Given the description of an element on the screen output the (x, y) to click on. 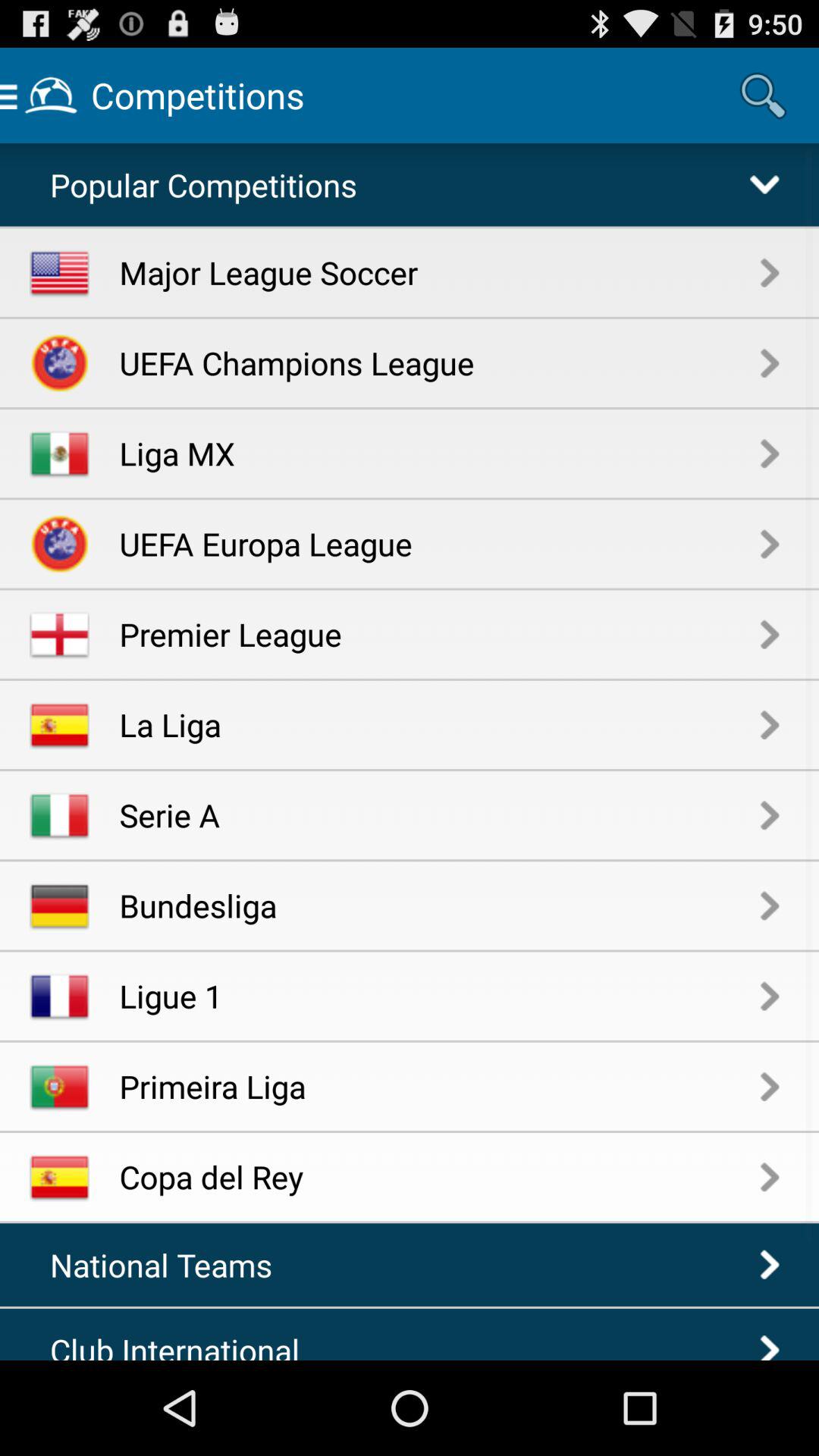
scroll until primeira liga app (439, 1085)
